Given the description of an element on the screen output the (x, y) to click on. 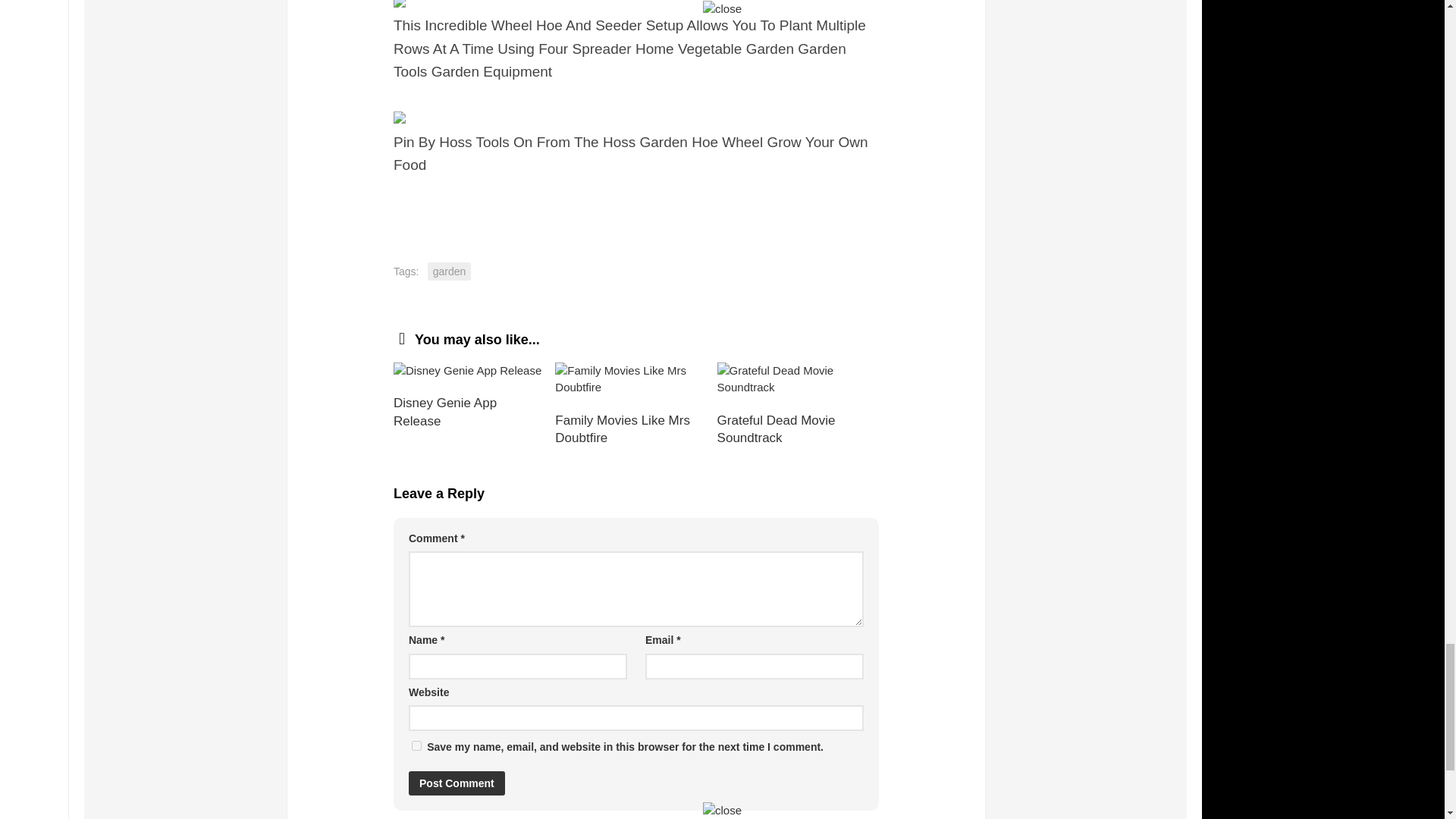
Post Comment (457, 783)
yes (417, 746)
Disney Genie App Release (473, 371)
Grateful Dead Movie Soundtrack (797, 379)
